Given the description of an element on the screen output the (x, y) to click on. 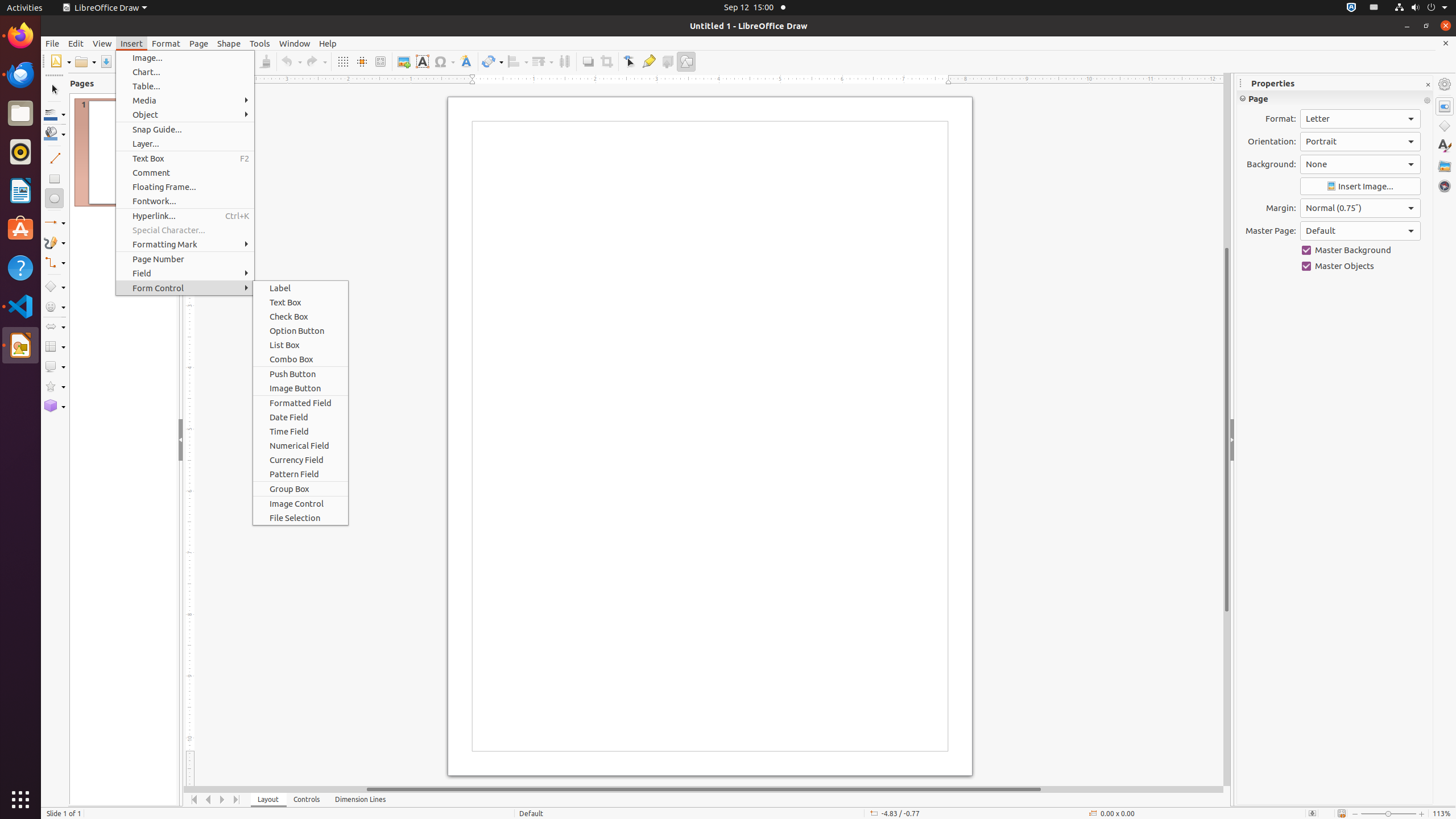
Move To Home Element type: push-button (194, 799)
Master Background Element type: check-box (1360, 249)
View Element type: menu (102, 43)
LibreOffice Draw Element type: menu (103, 7)
